Given the description of an element on the screen output the (x, y) to click on. 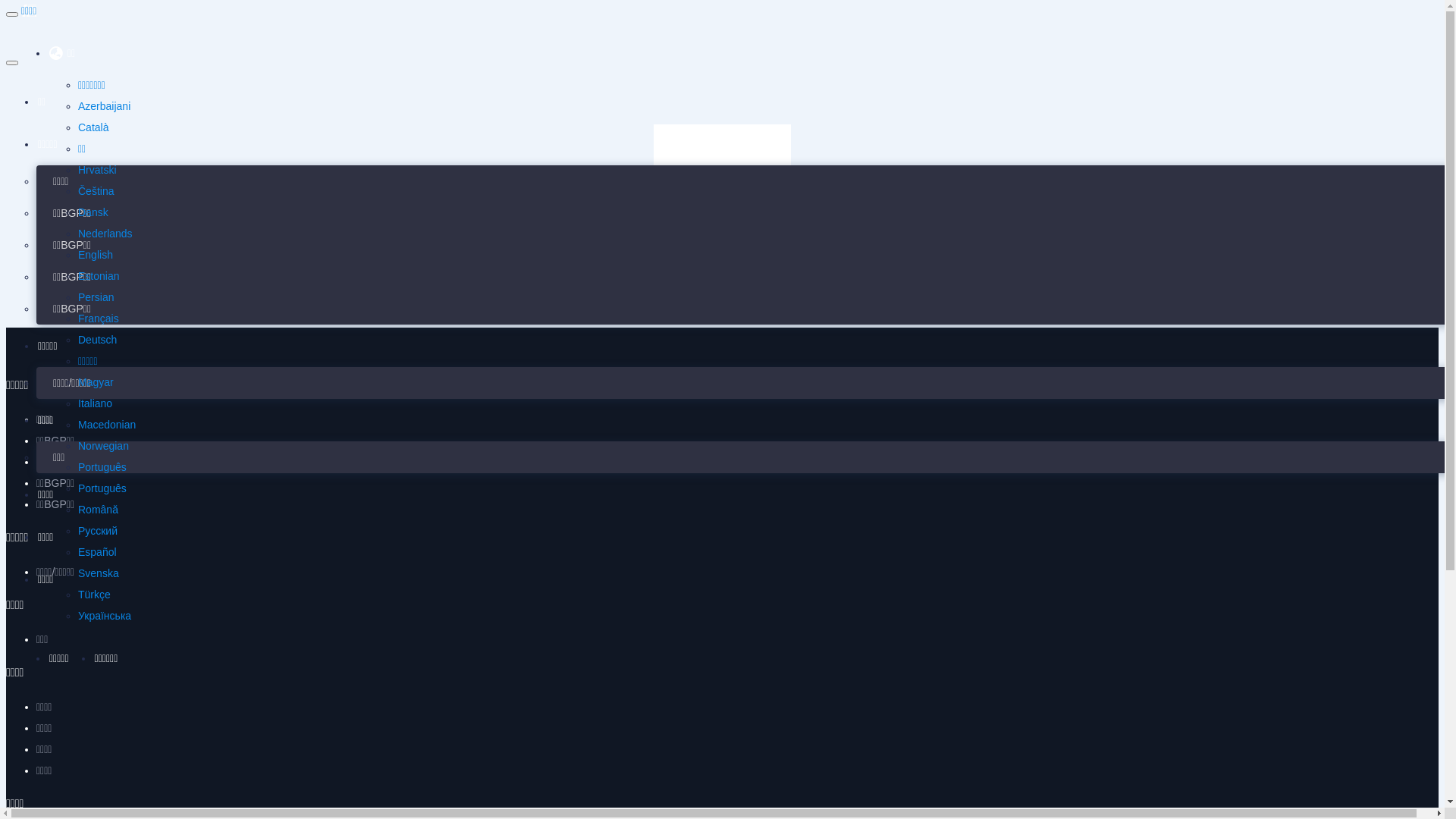
Svenska Element type: text (98, 573)
Toggle navigation Element type: text (12, 62)
Persian Element type: text (95, 297)
Dansk Element type: text (93, 212)
Hrvatski Element type: text (97, 169)
Toggle navigation Element type: text (12, 14)
Deutsch Element type: text (97, 339)
Italiano Element type: text (95, 403)
Norwegian Element type: text (103, 445)
Estonian Element type: text (98, 275)
Macedonian Element type: text (106, 424)
Nederlands Element type: text (105, 233)
Azerbaijani Element type: text (104, 106)
English Element type: text (95, 254)
Magyar Element type: text (95, 382)
